Given the description of an element on the screen output the (x, y) to click on. 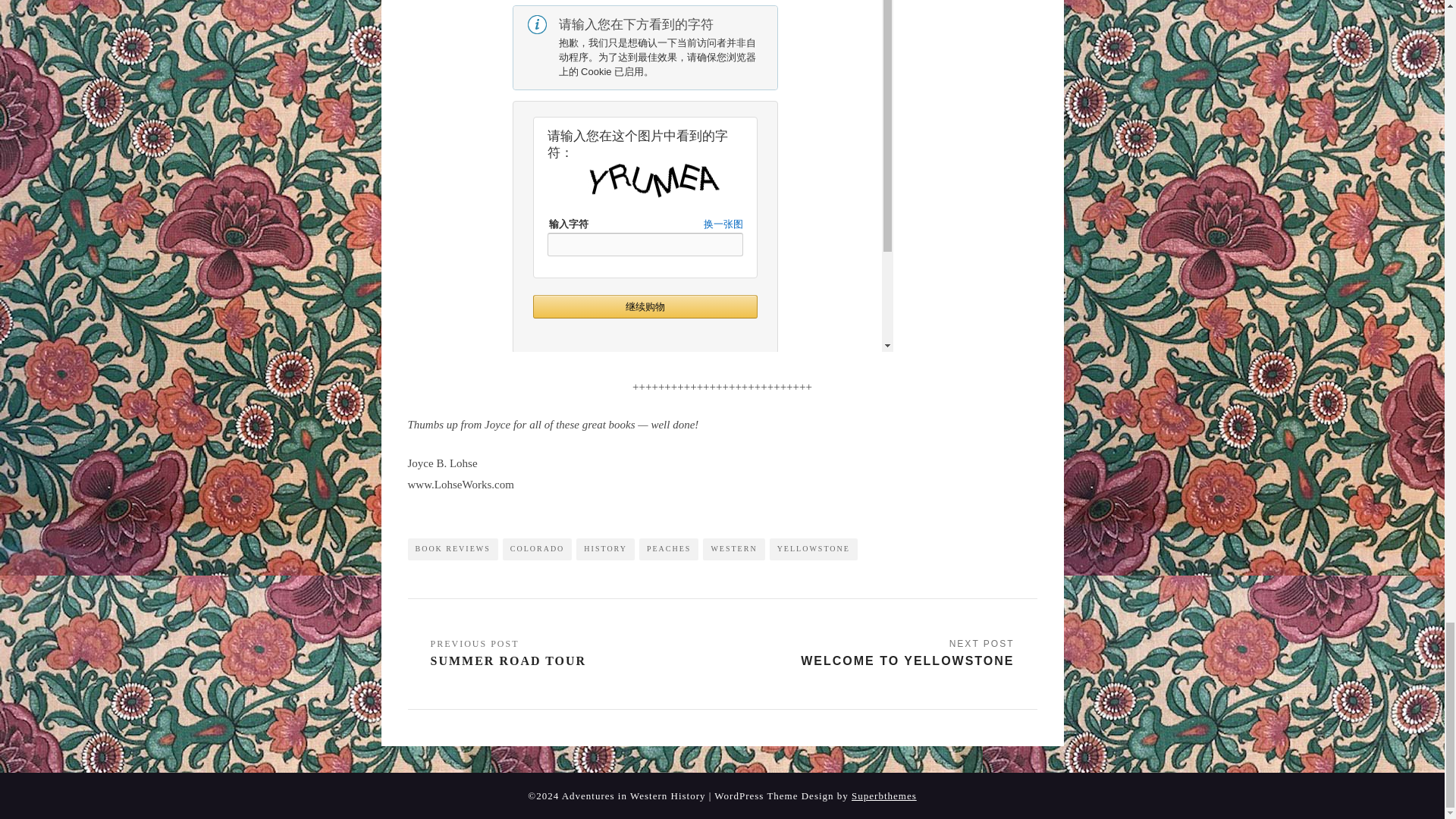
PEACHES (668, 548)
WELCOME TO YELLOWSTONE (906, 653)
HISTORY (605, 548)
SUMMER ROAD TOUR (507, 653)
YELLOWSTONE (813, 548)
WESTERN (733, 548)
Superbthemes (884, 794)
COLORADO (537, 548)
BOOK REVIEWS (452, 548)
